Given the description of an element on the screen output the (x, y) to click on. 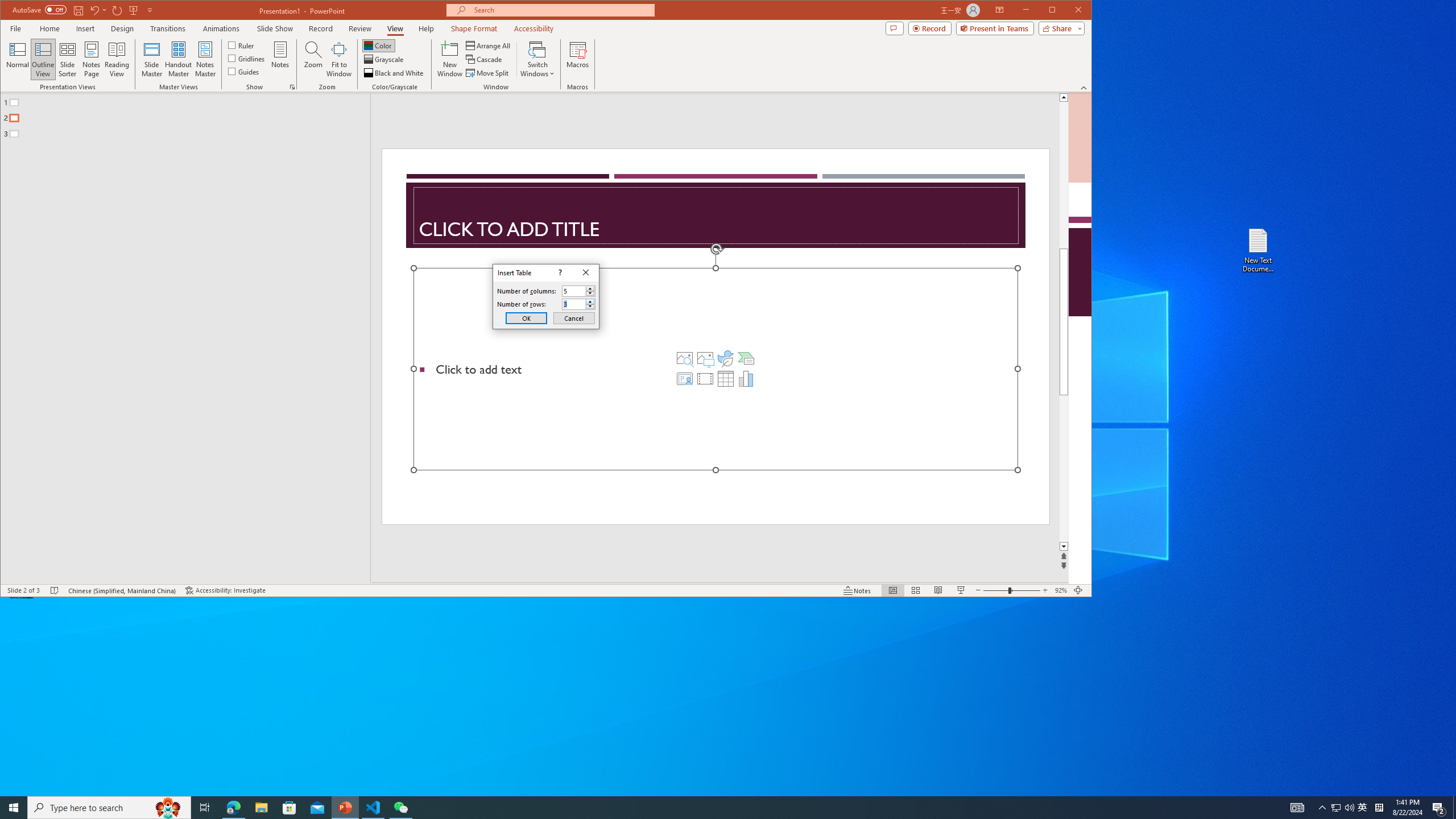
Notes (279, 59)
Arrange All (488, 45)
Handout Master (178, 59)
Outline View (42, 59)
Zoom... (312, 59)
Guides (243, 70)
